Given the description of an element on the screen output the (x, y) to click on. 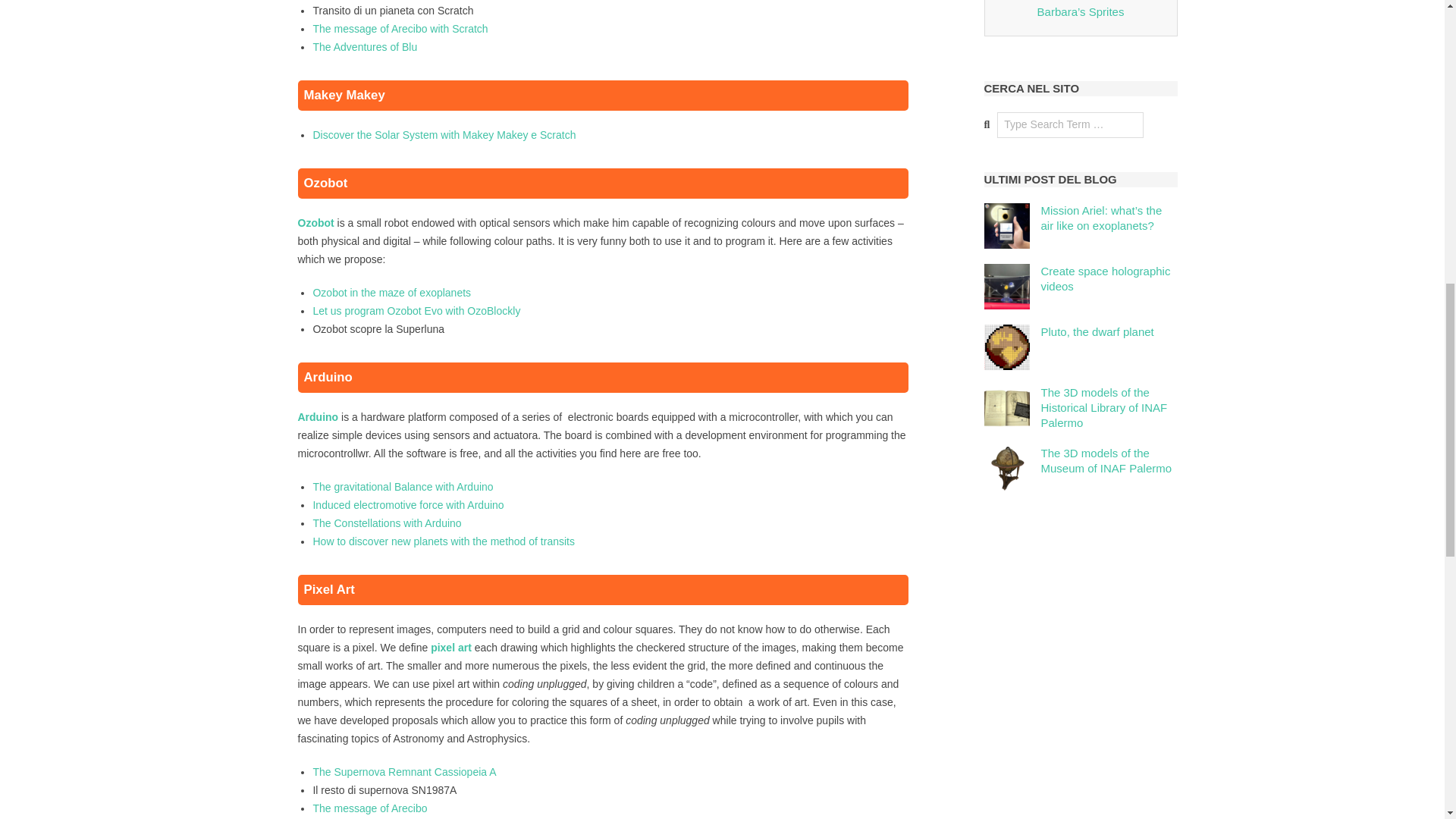
The Constellations with Arduino (387, 522)
The gravitational Balance with Arduino (403, 486)
Induced electromotive force with Arduino (408, 504)
Ozobot (315, 223)
Let us program Ozobot Evo with OzoBlockly (416, 310)
pixel art (450, 647)
The message of Arecibo with Scratch (400, 28)
Discover the Solar System with Makey Makey e Scratch (444, 134)
Ozobot in the maze of exoplanets (391, 292)
How to discover new planets with the method of transits (444, 541)
